Given the description of an element on the screen output the (x, y) to click on. 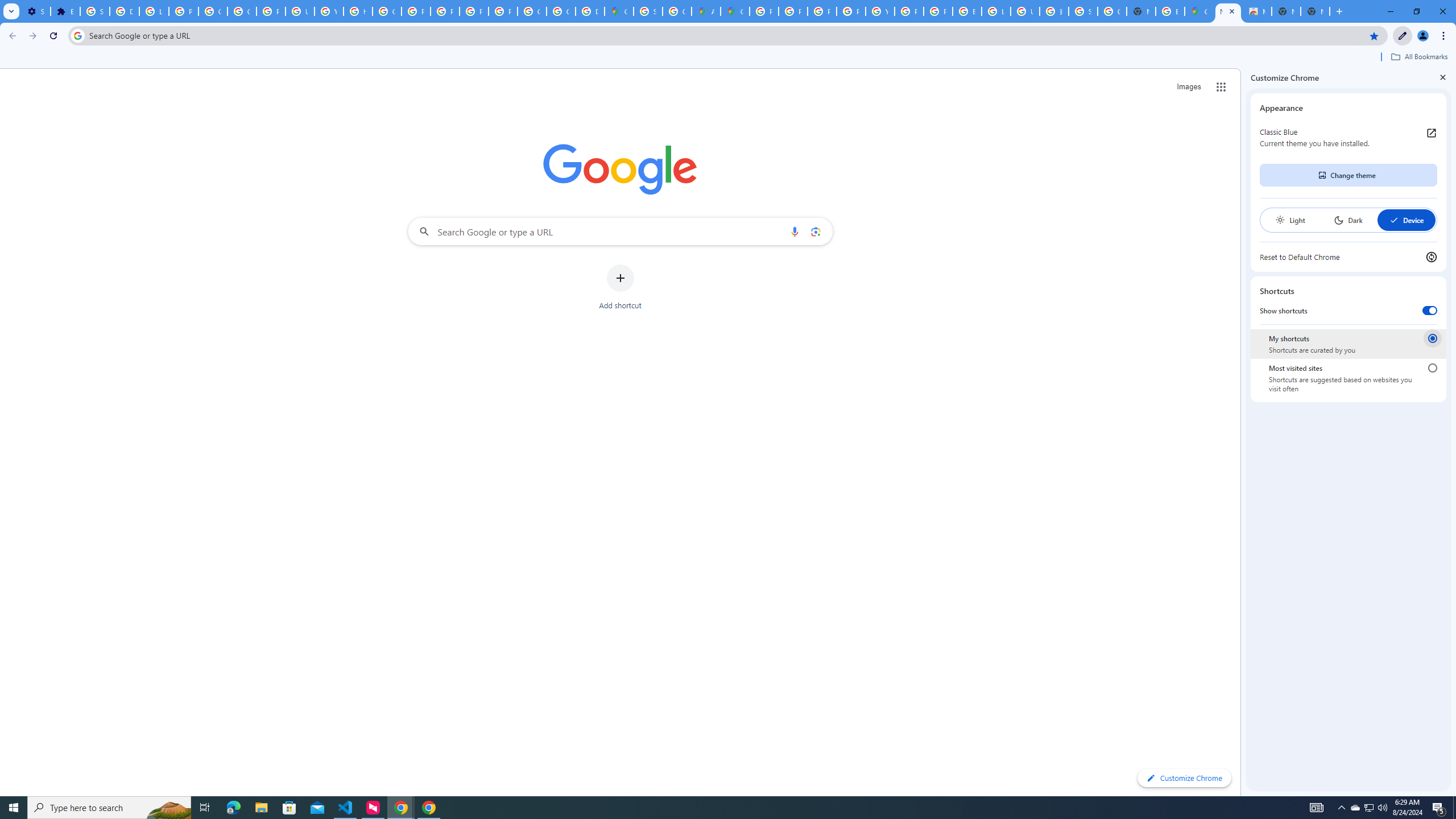
Side Panel Resize Handle (1242, 431)
Browse Chrome as a guest - Computer - Google Chrome Help (967, 11)
Sign in - Google Accounts (1082, 11)
YouTube (879, 11)
Learn how to find your photos - Google Photos Help (153, 11)
Privacy Help Center - Policies Help (821, 11)
New Tab (1315, 11)
